Given the description of an element on the screen output the (x, y) to click on. 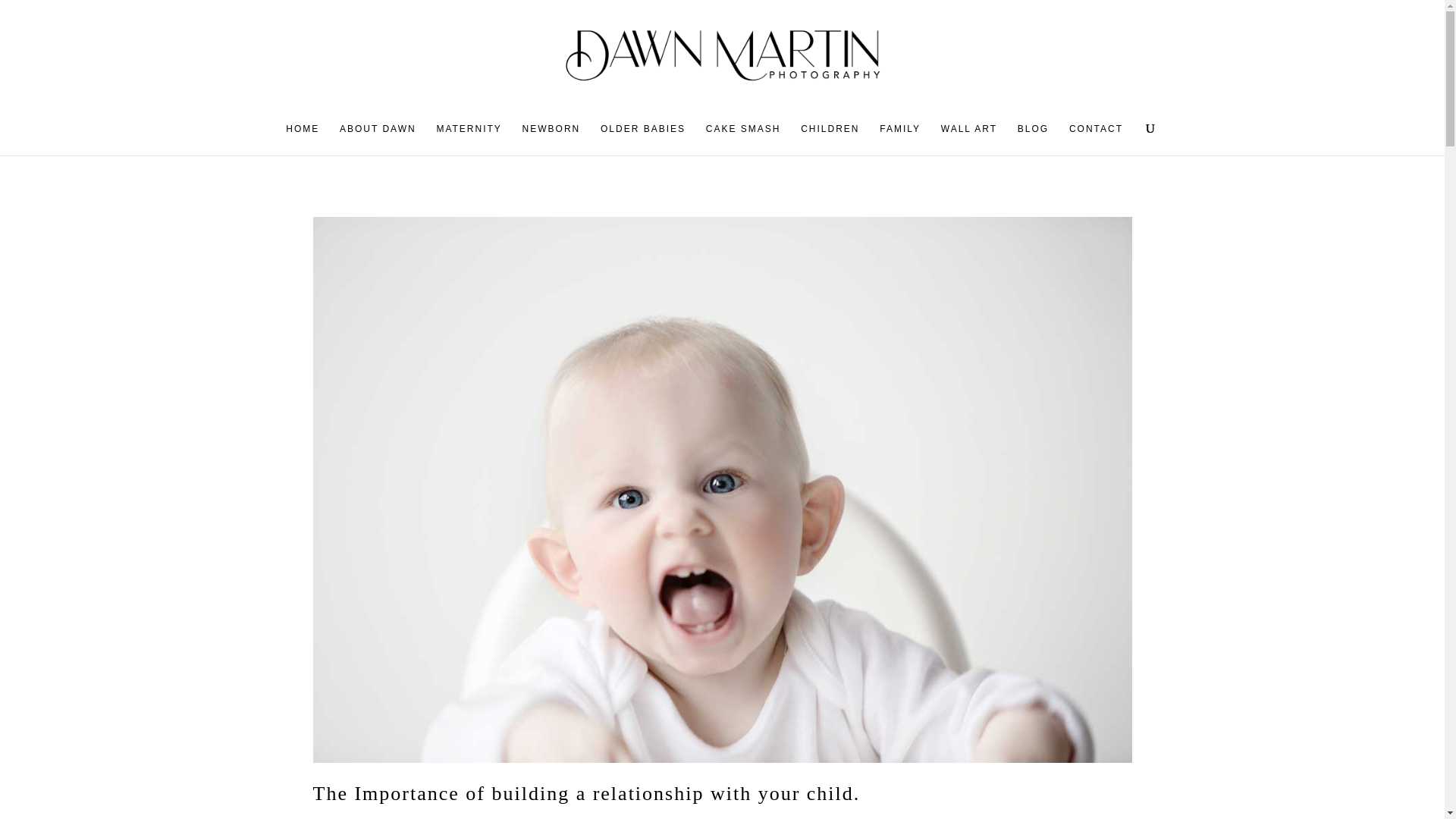
Baby photography (438, 818)
OLDER BABIES (642, 139)
HOME (301, 139)
CHILDREN (829, 139)
WALL ART (968, 139)
BLOG (1032, 139)
Child Photography (696, 818)
FAMILY (899, 139)
ABOUT DAWN (377, 139)
CONTACT (1095, 139)
MATERNITY (467, 139)
Child Portraits (789, 818)
Portraiture (1024, 818)
